Given the description of an element on the screen output the (x, y) to click on. 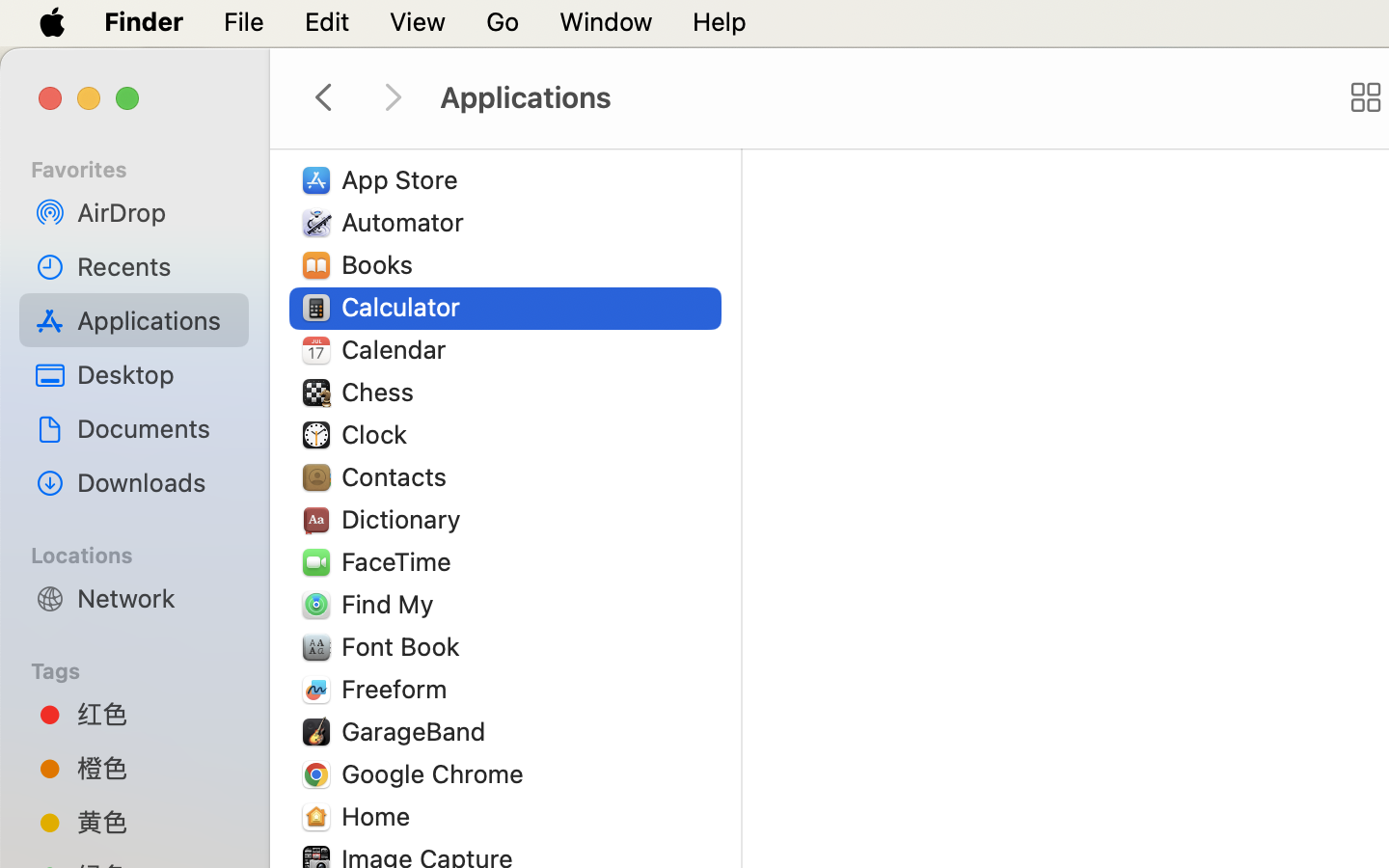
Books Element type: AXTextField (381, 263)
Calendar Element type: AXTextField (398, 348)
Tags Element type: AXStaticText (145, 668)
Documents Element type: AXStaticText (155, 427)
